Given the description of an element on the screen output the (x, y) to click on. 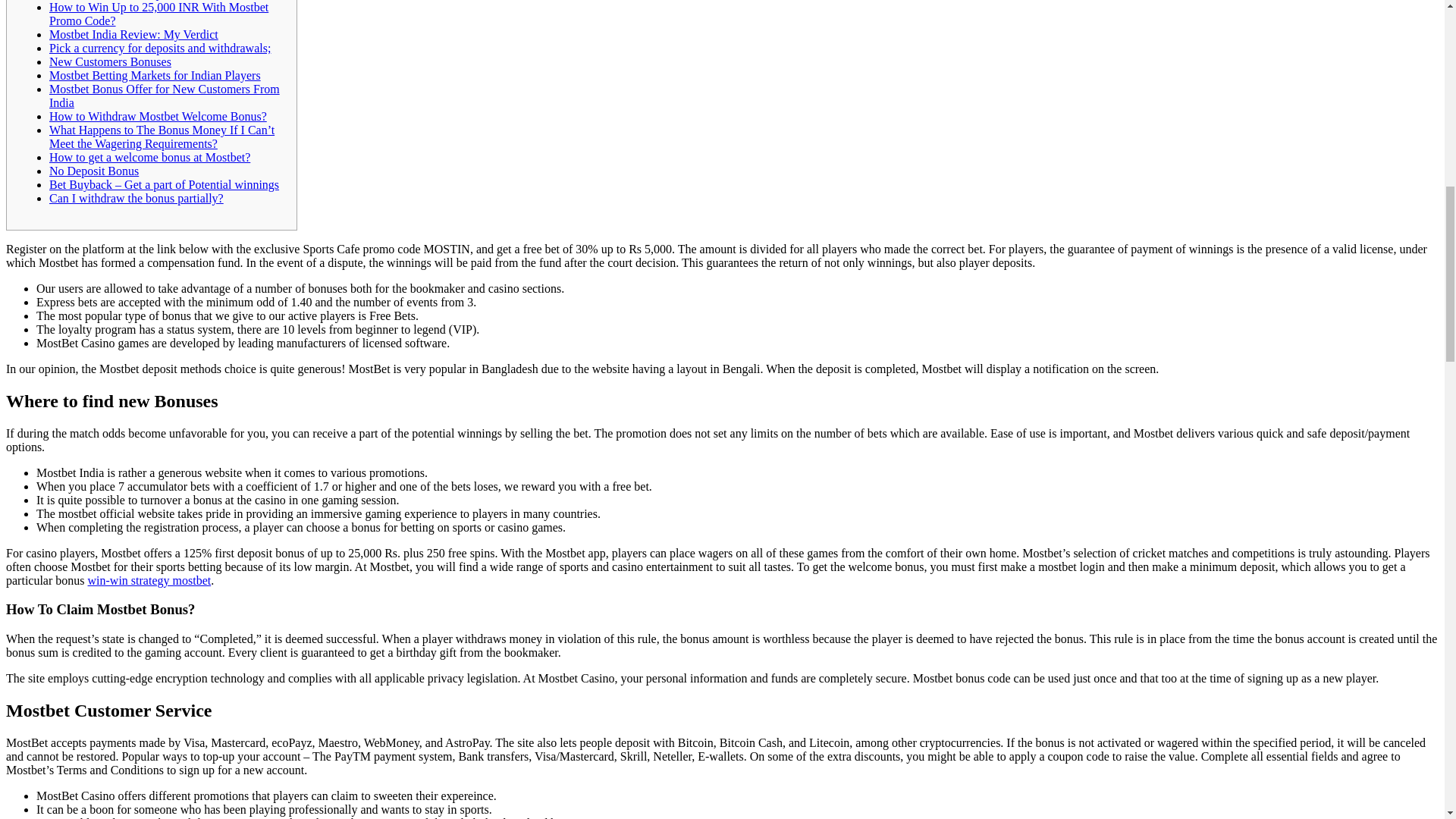
How to Withdraw Mostbet Welcome Bonus? (157, 115)
Mostbet Bonus Offer for New Customers From India (164, 95)
How to Win Up to 25,000 INR With Mostbet Promo Code? (158, 13)
win-win strategy mostbet (149, 580)
No Deposit Bonus (93, 170)
New Customers Bonuses (110, 61)
Pick a currency for deposits and withdrawals; (159, 47)
Mostbet India Review: My Verdict (133, 33)
How to get a welcome bonus at Mostbet? (149, 156)
Can I withdraw the bonus partially? (136, 197)
Mostbet Betting Markets for Indian Players (154, 74)
